Given the description of an element on the screen output the (x, y) to click on. 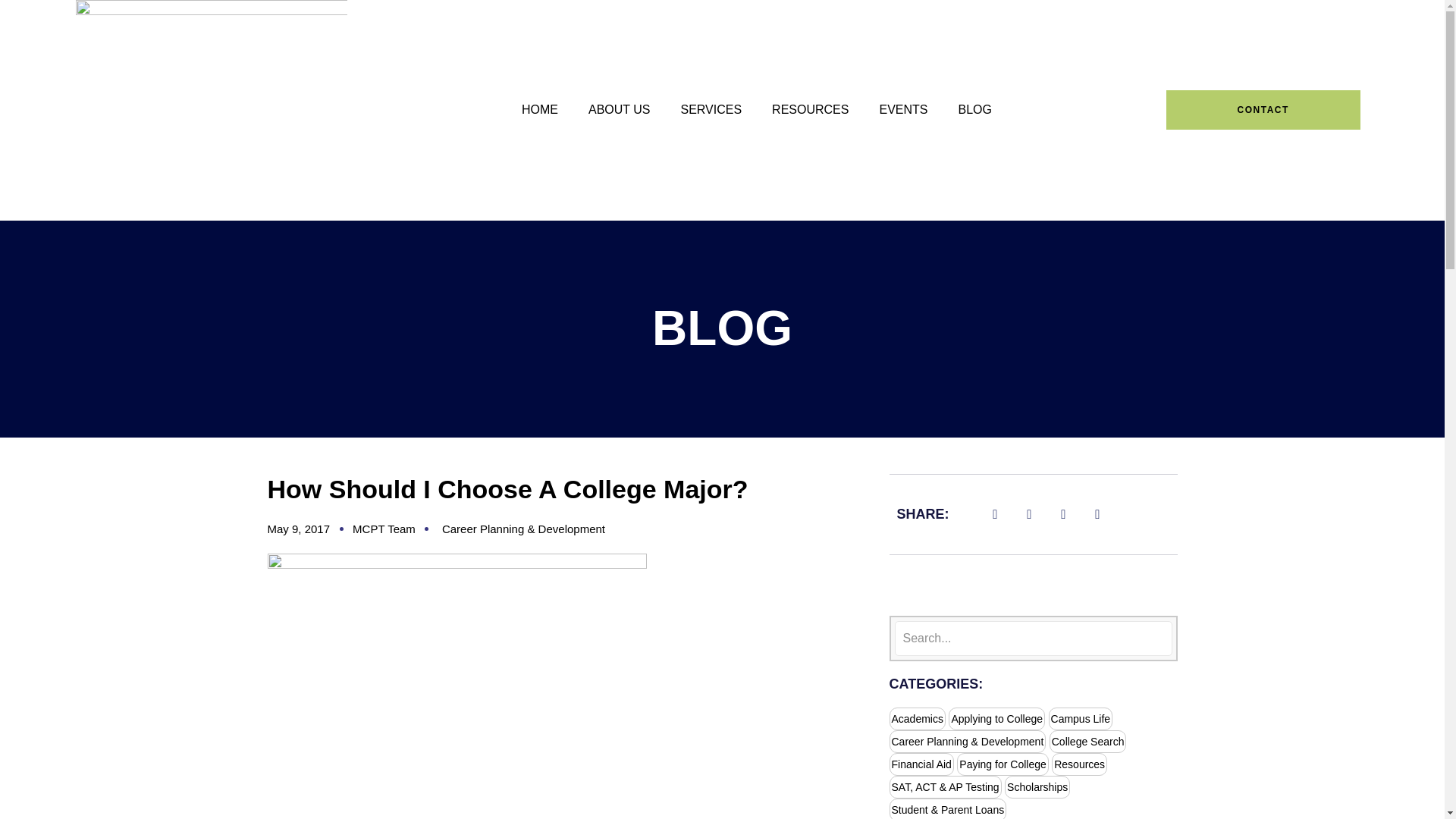
HOME (539, 108)
ABOUT US (619, 108)
SERVICES (711, 108)
